Given the description of an element on the screen output the (x, y) to click on. 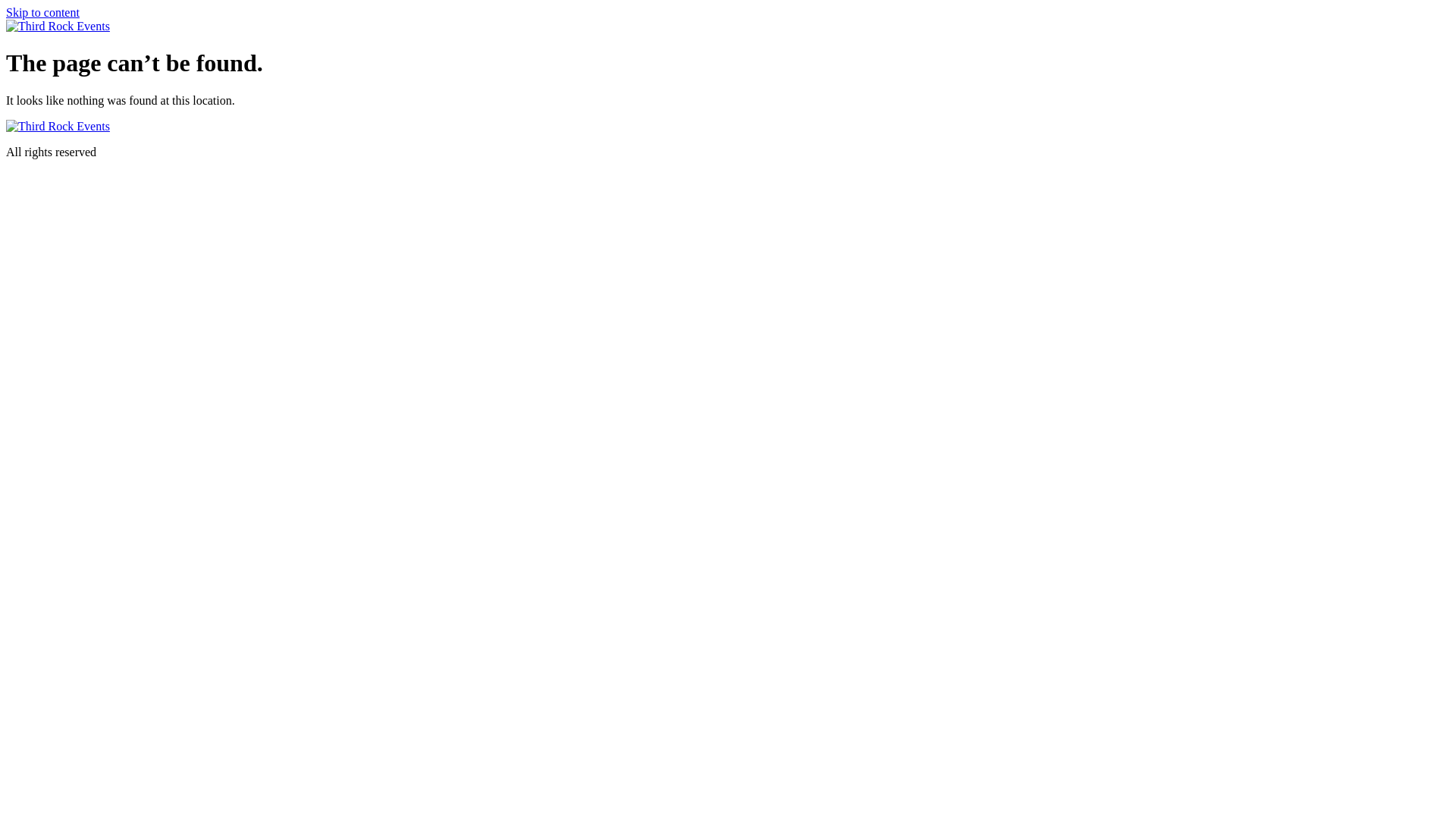
Skip to content Element type: text (42, 12)
